Given the description of an element on the screen output the (x, y) to click on. 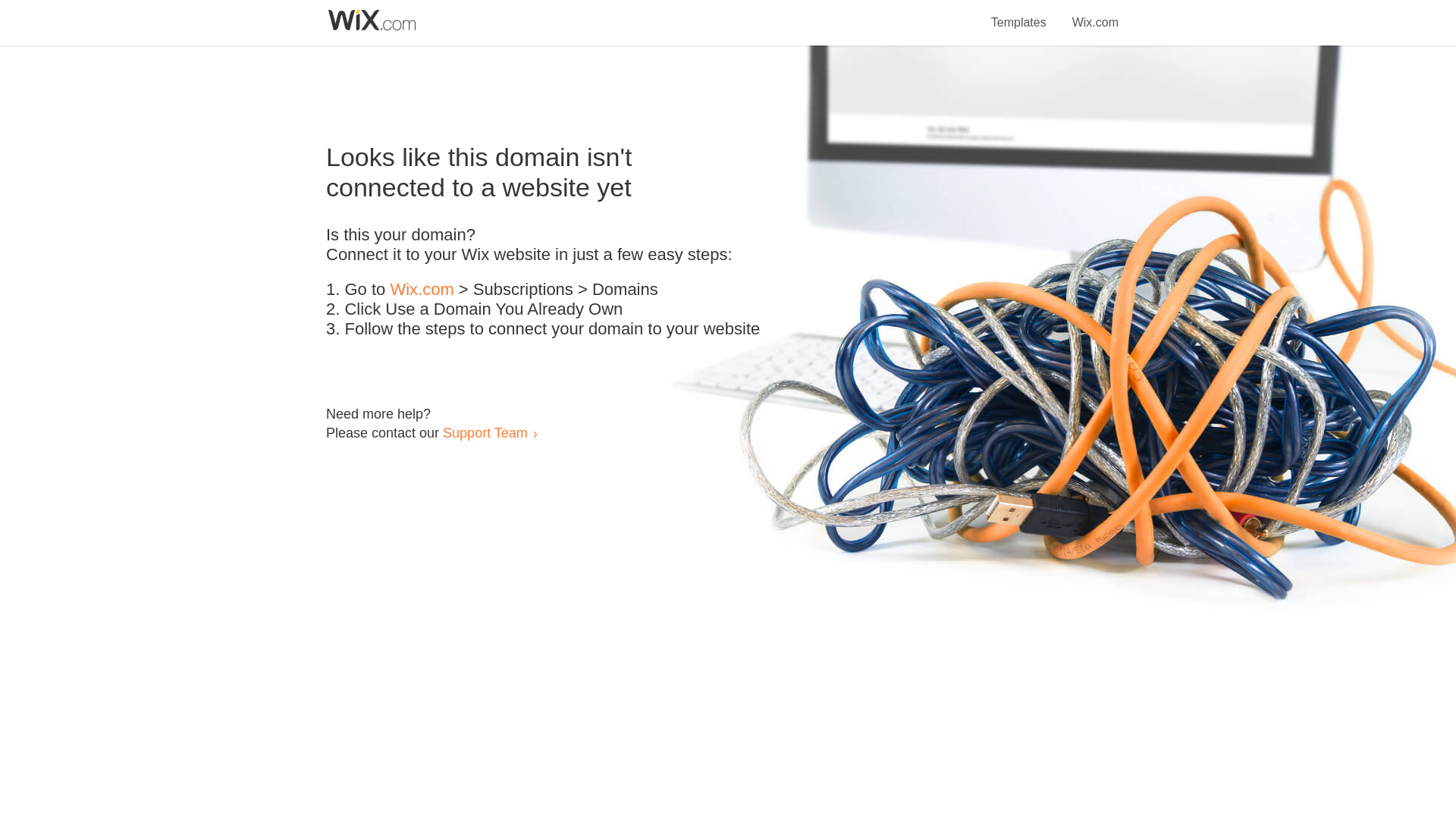
Wix.com (421, 289)
Templates (1018, 14)
Support Team (484, 432)
Wix.com (1095, 14)
